Given the description of an element on the screen output the (x, y) to click on. 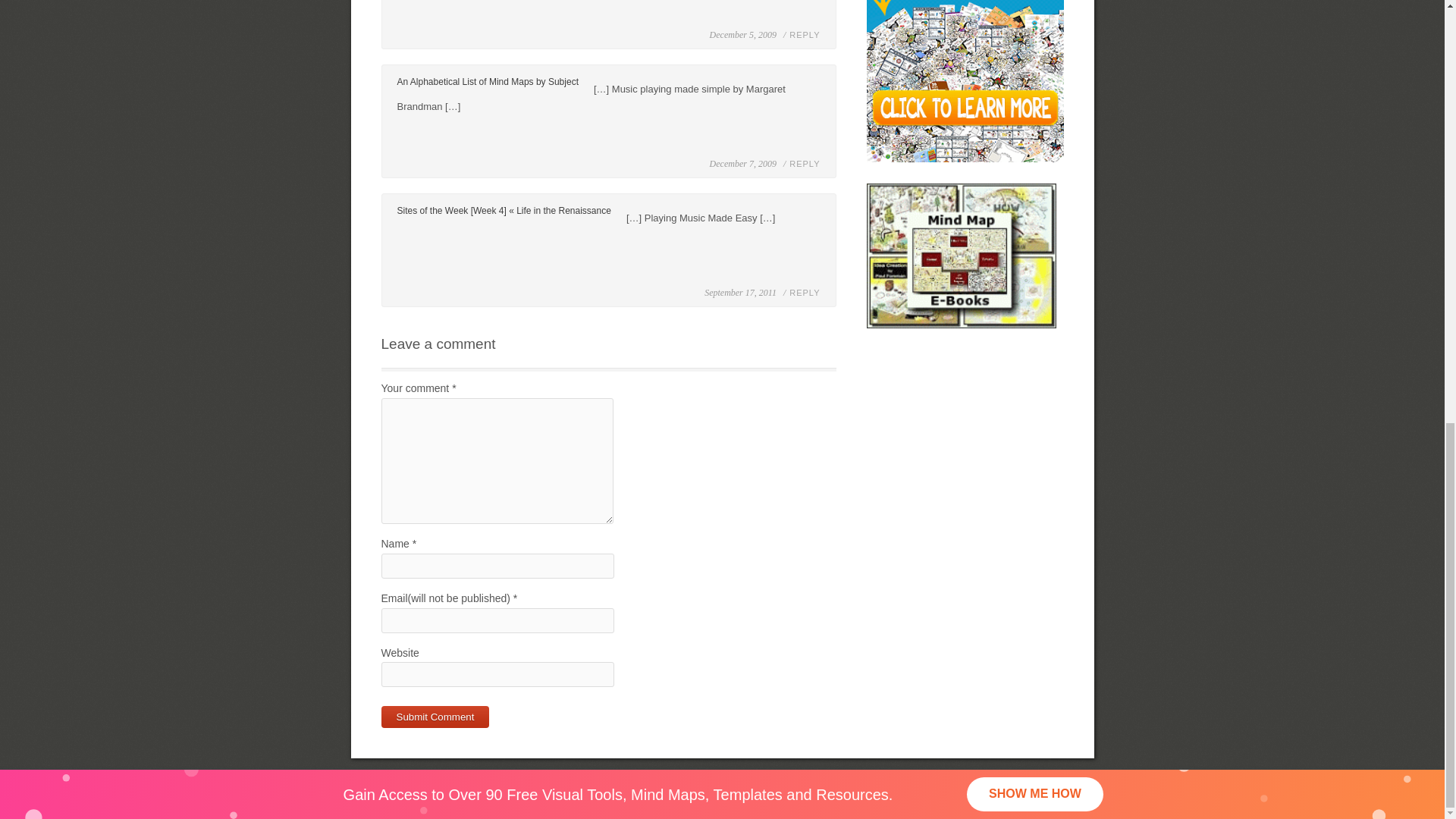
Mind Map eBooks by Paul Foreman (960, 255)
Submit Comment (434, 716)
